Given the description of an element on the screen output the (x, y) to click on. 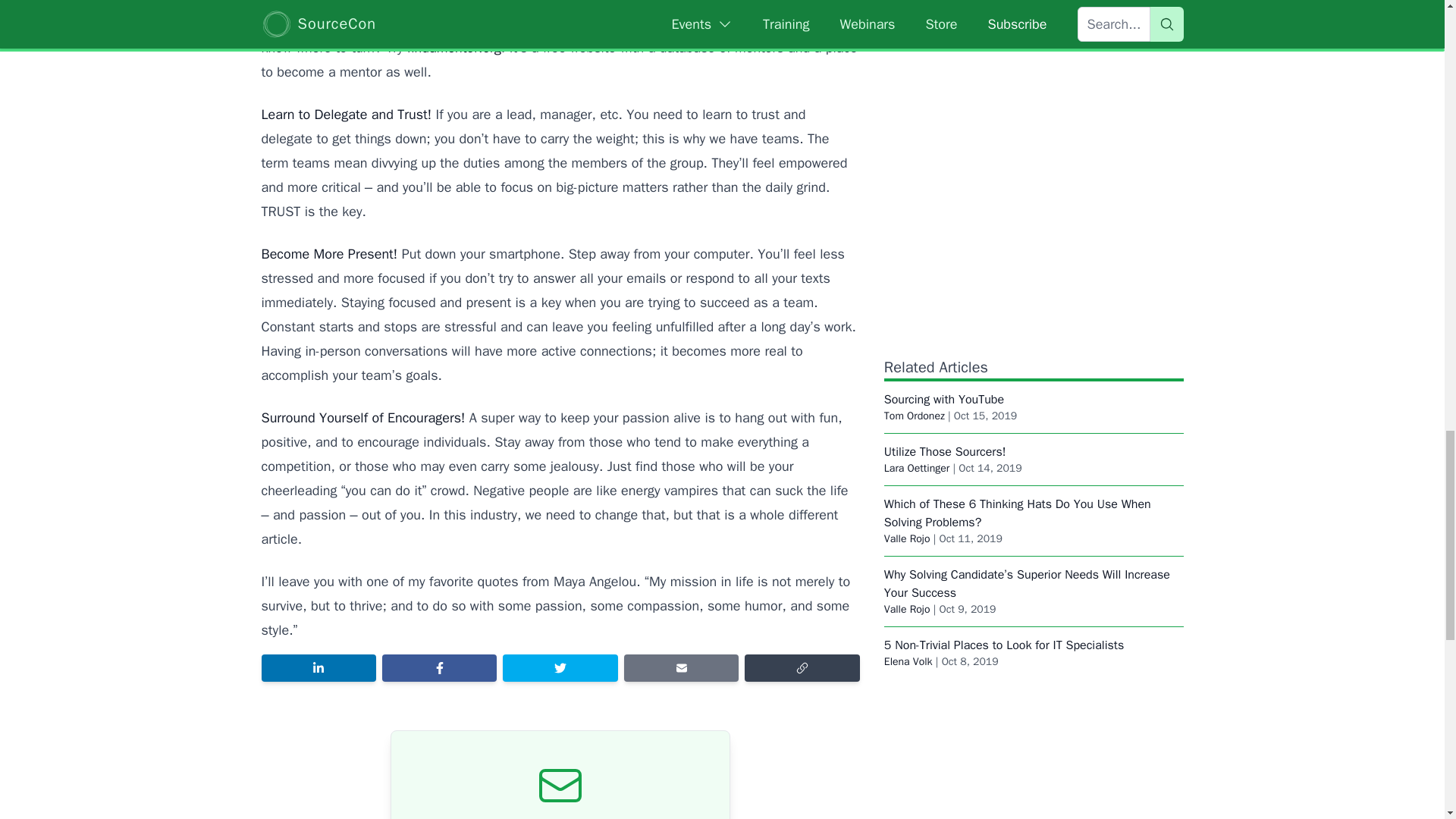
Valle Rojo (906, 538)
Tom Ordonez (913, 415)
5 Non-Trivial Places to Look for IT Specialists (1003, 645)
Utilize Those Sourcers! (944, 451)
Sourcing with YouTube (943, 399)
findamentor.org (453, 47)
Lara Oettinger (916, 468)
Valle Rojo (906, 608)
